Given the description of an element on the screen output the (x, y) to click on. 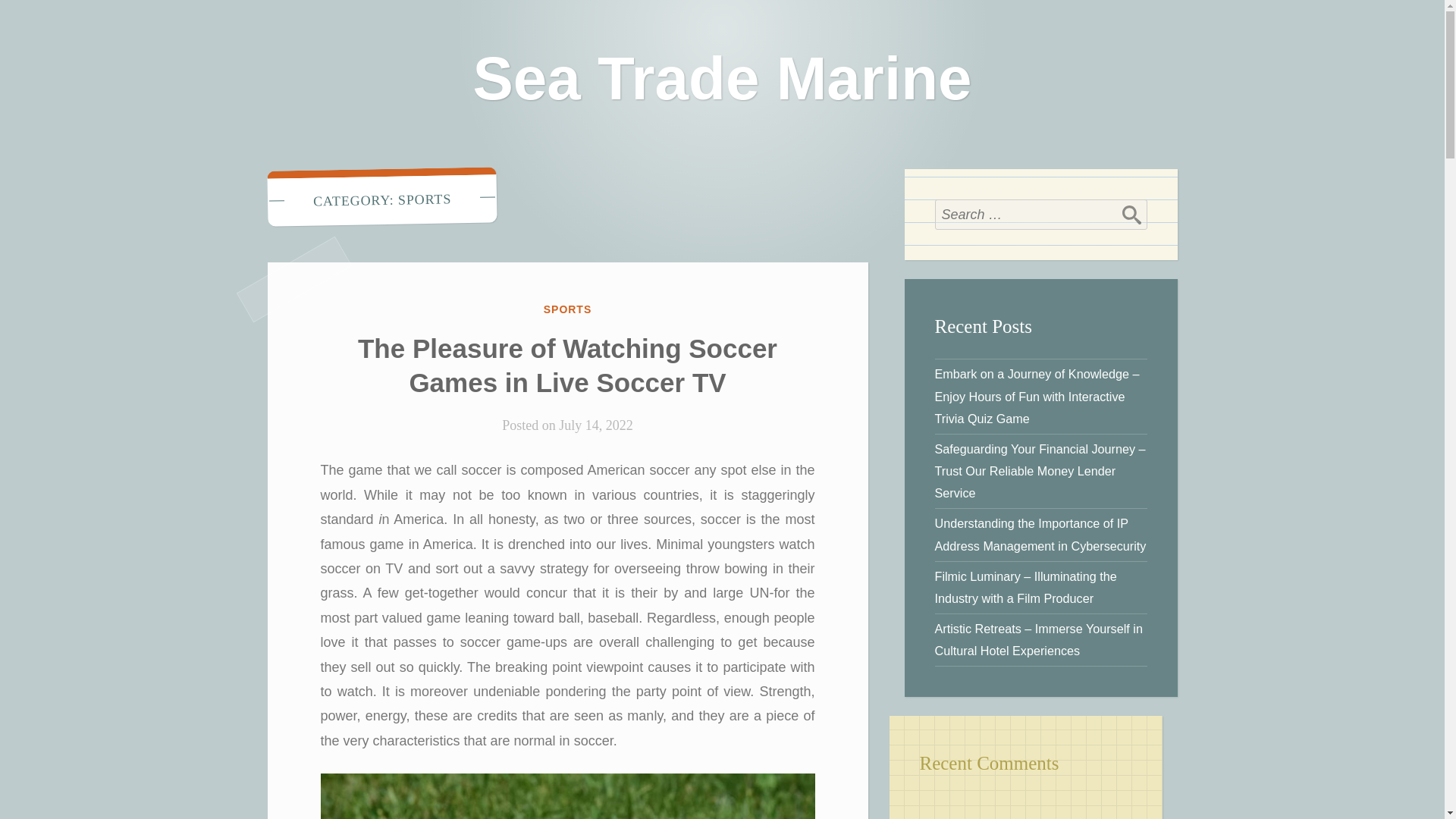
Search (1131, 214)
The Pleasure of Watching Soccer Games in Live Soccer TV (567, 365)
SPORTS (567, 309)
Search (1131, 214)
July 14, 2022 (596, 425)
Search (1131, 214)
Sea Trade Marine (721, 78)
